Given the description of an element on the screen output the (x, y) to click on. 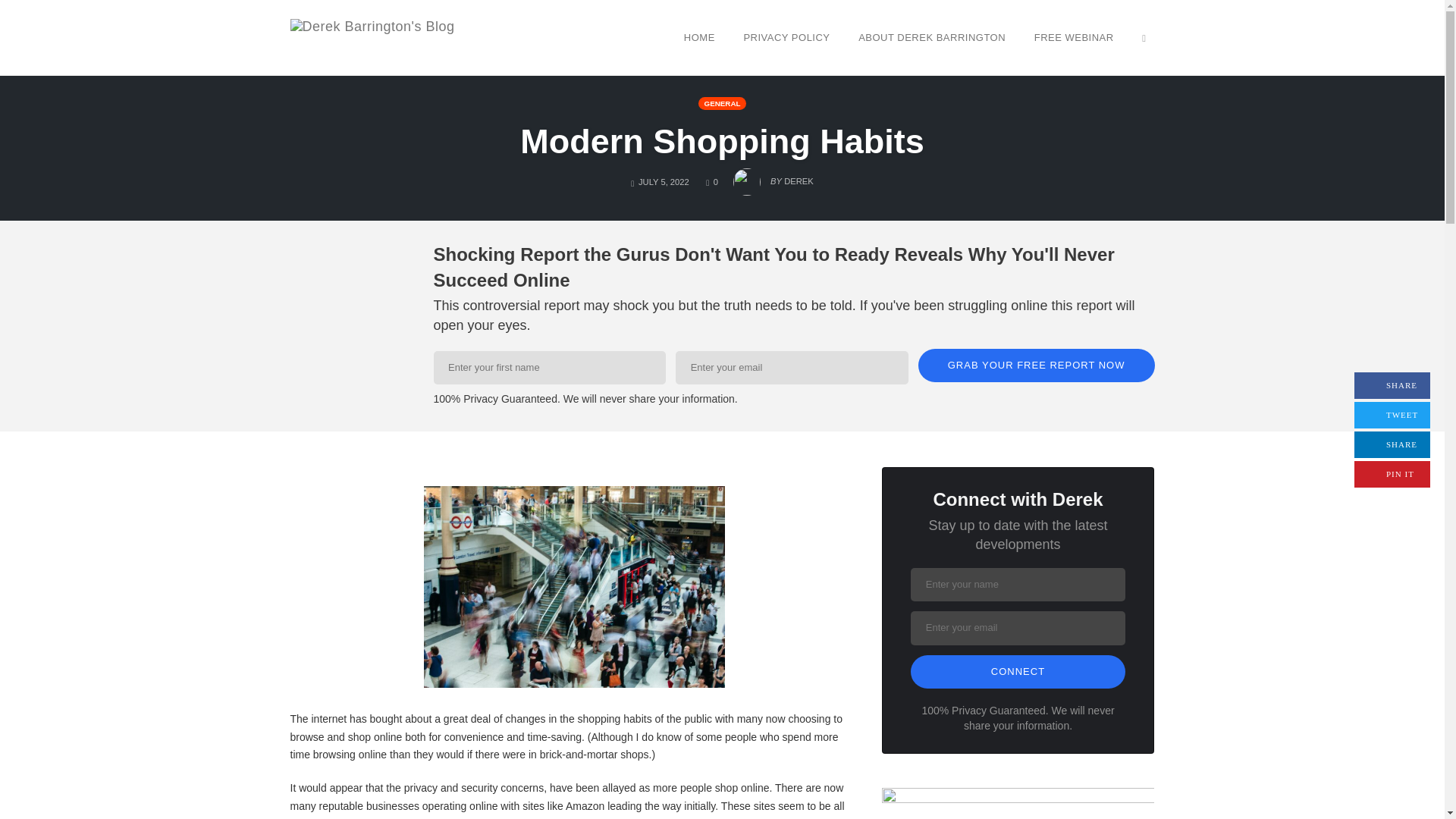
FREE WEBINAR (1074, 37)
HOME (699, 37)
OPEN SEARCH FORM (1144, 37)
ABOUT DEREK BARRINGTON (931, 37)
Modern Shopping Habits (711, 181)
CONNECT (721, 141)
Derek Barrington's Blog (1017, 671)
GRAB YOUR FREE REPORT NOW (1391, 385)
PRIVACY POLICY (371, 37)
BY DEREK (1036, 365)
GENERAL (786, 37)
